Given the description of an element on the screen output the (x, y) to click on. 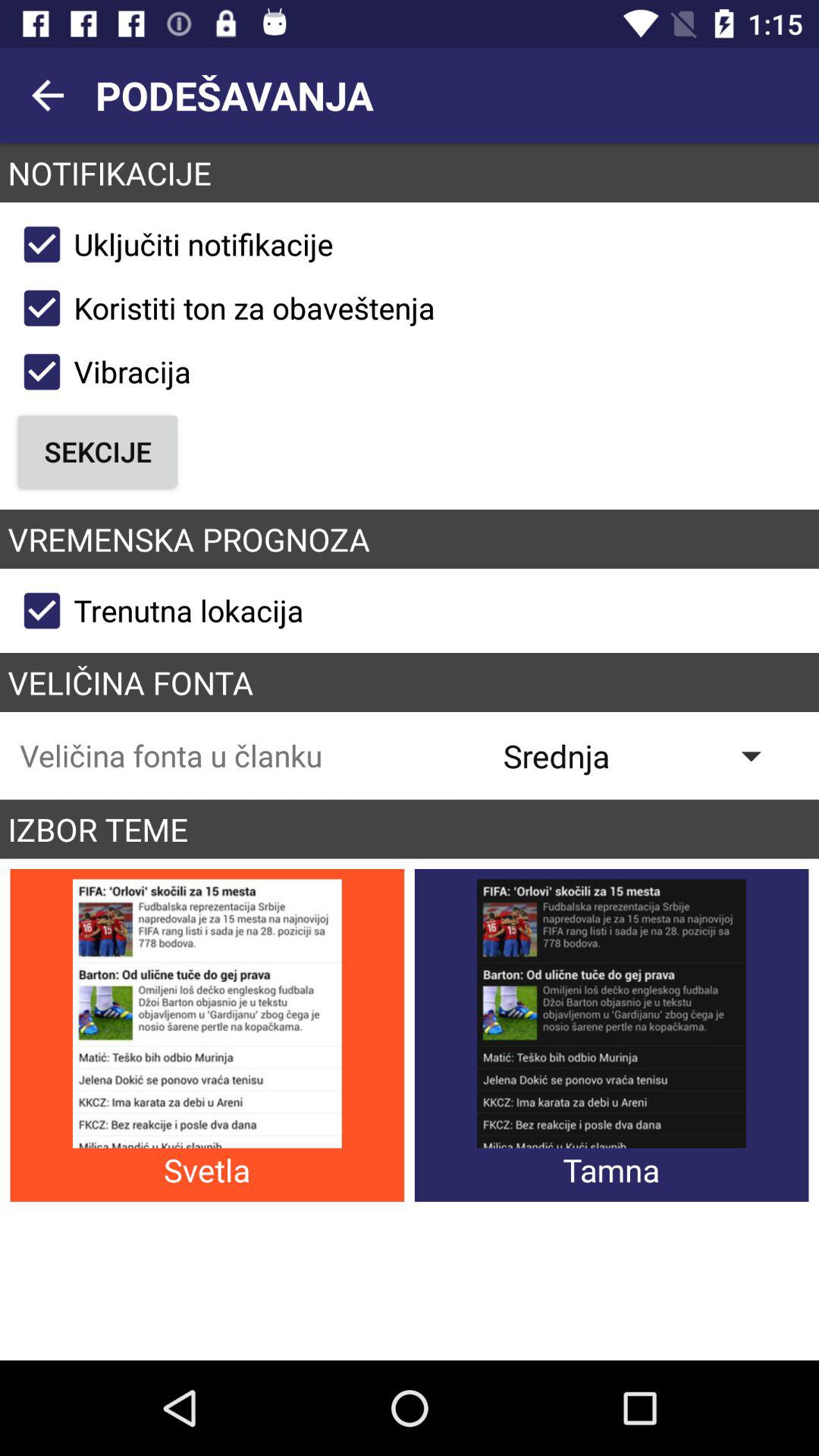
choose koristiti ton za (222, 308)
